Given the description of an element on the screen output the (x, y) to click on. 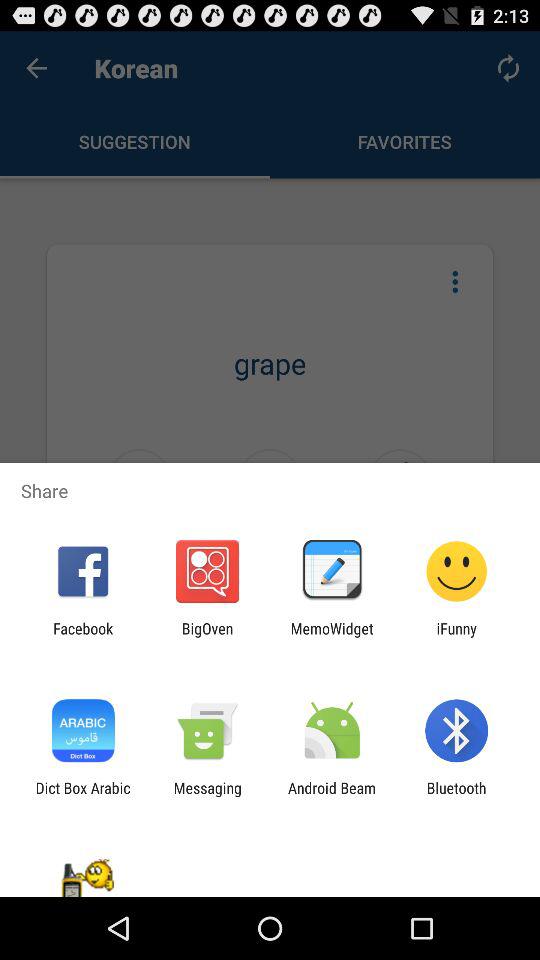
swipe until the dict box arabic (82, 796)
